Given the description of an element on the screen output the (x, y) to click on. 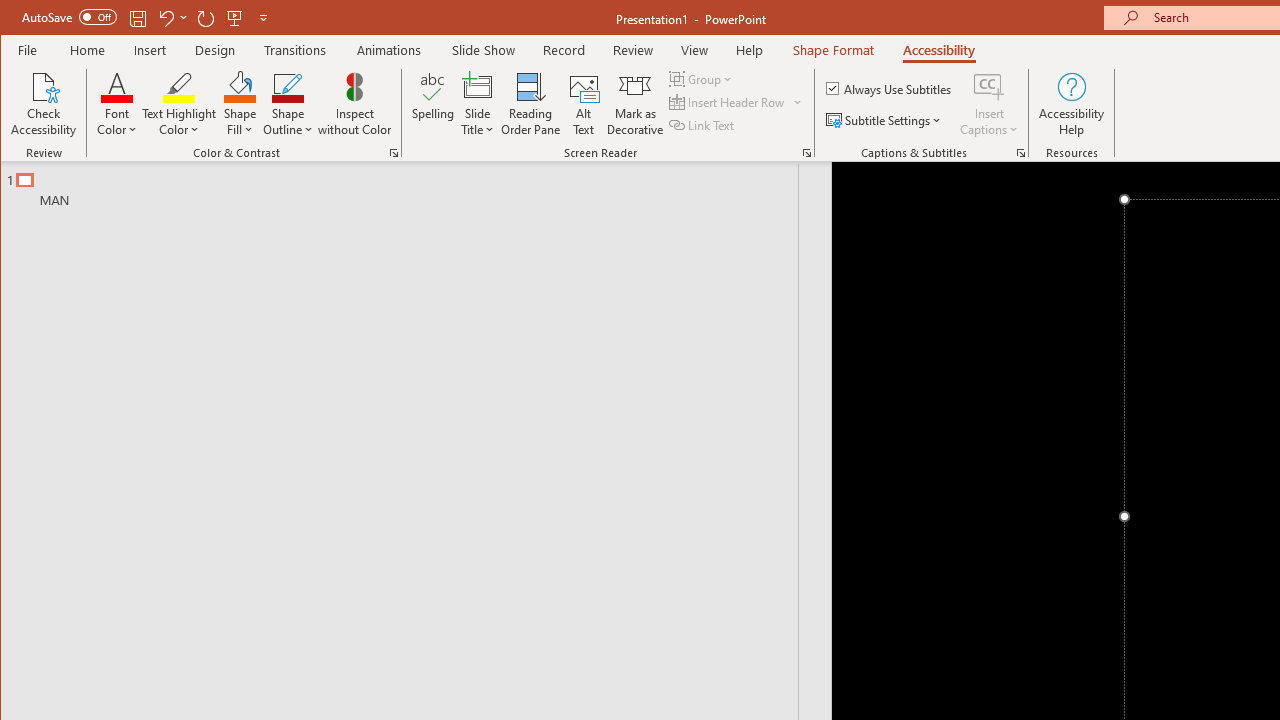
Text Highlight Color (178, 104)
Accessibility Help (1071, 104)
Alt Text (584, 104)
Text Highlight Color No Color (178, 86)
View (694, 50)
Insert Captions (989, 104)
Always Use Subtitles (890, 88)
Design (215, 50)
Font Color Red (116, 86)
Shape Fill (239, 104)
Accessibility (938, 50)
Outline (408, 185)
Slide Title (477, 104)
